Given the description of an element on the screen output the (x, y) to click on. 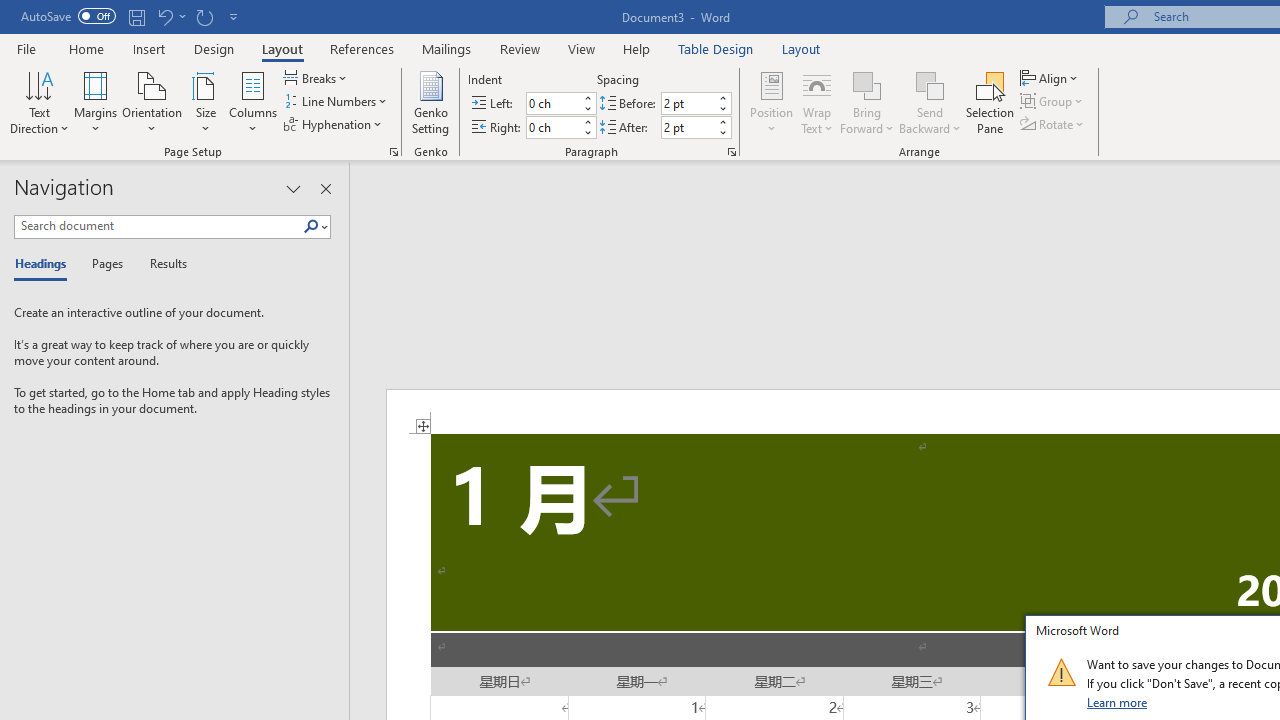
Breaks (317, 78)
Indent Right (552, 127)
Send Backward (930, 102)
Align (1051, 78)
Rotate (1053, 124)
Orientation (152, 102)
